Given the description of an element on the screen output the (x, y) to click on. 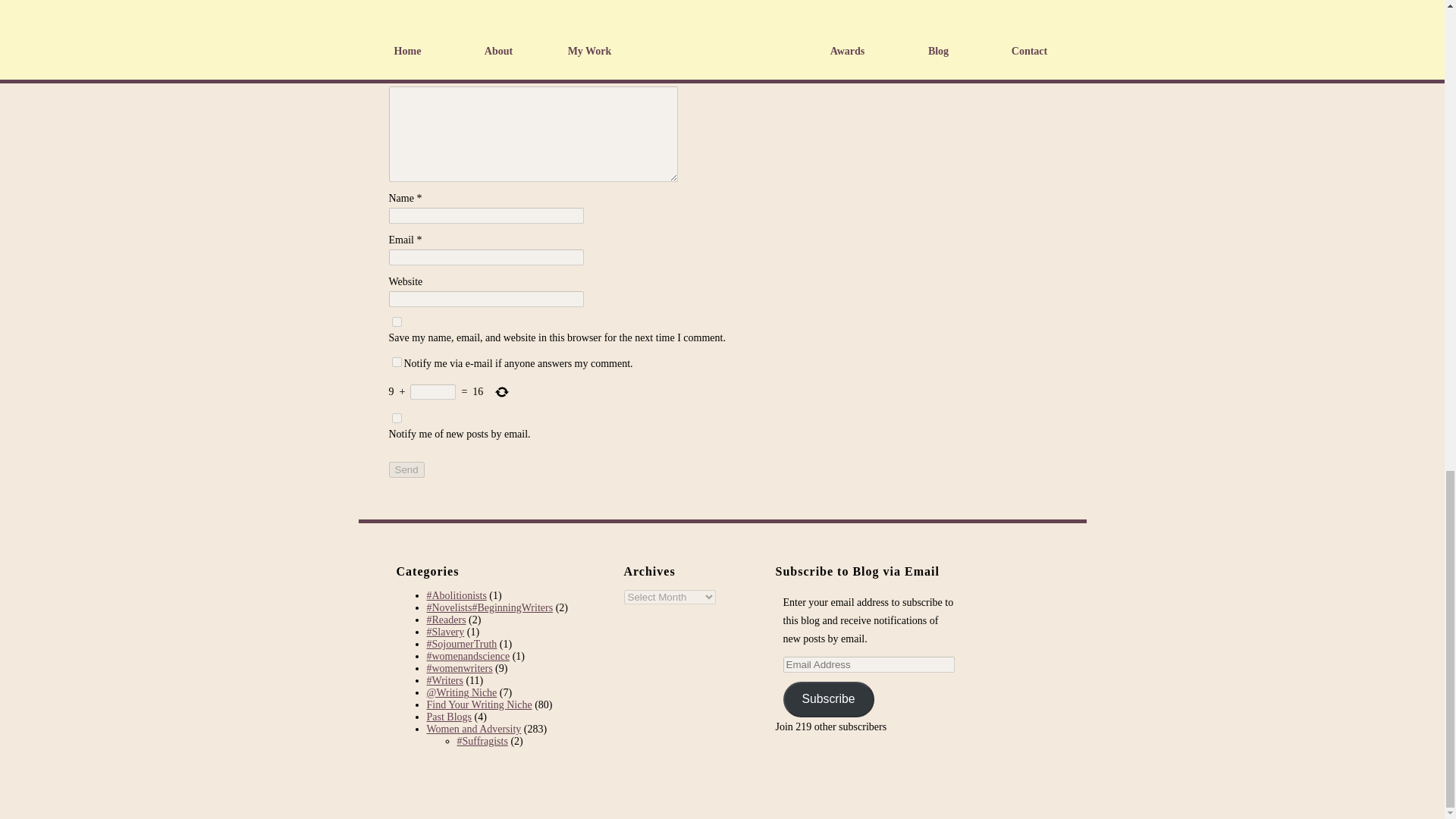
Find Your Writing Niche (478, 704)
Past Blogs (448, 716)
Subscribe (828, 699)
on (396, 361)
yes (396, 321)
Send (405, 469)
Send (405, 469)
Women and Adversity (473, 728)
subscribe (396, 418)
